Given the description of an element on the screen output the (x, y) to click on. 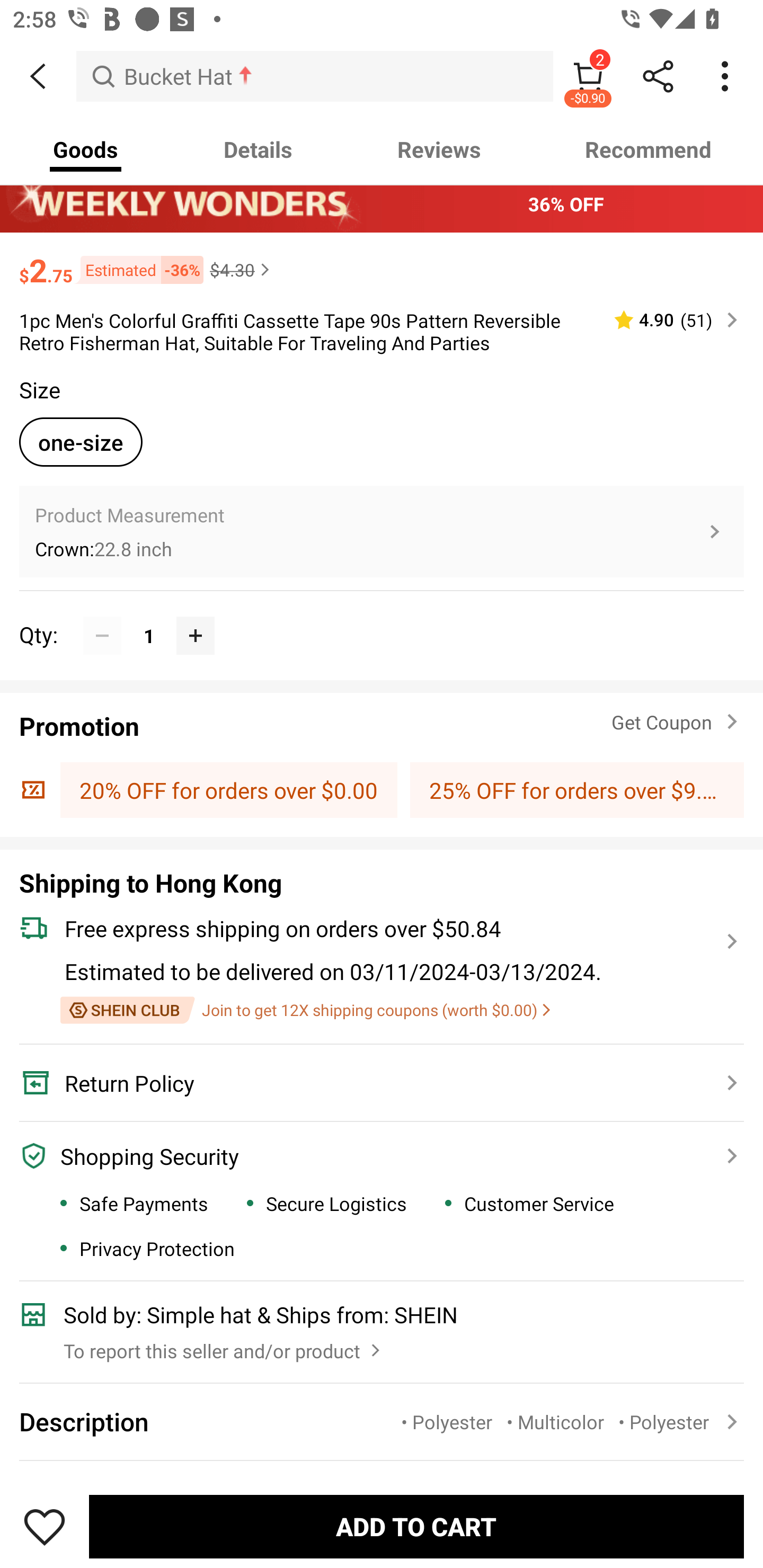
BACK (38, 75)
2 -$0.90 (588, 75)
Bucket Hat (314, 75)
Goods (85, 149)
Details (257, 149)
Reviews (439, 149)
Recommend (648, 149)
36% OFF (381, 203)
$2.75 Estimated -36% $4.30 (381, 261)
Estimated -36% (137, 269)
$4.30 (241, 269)
4.90 (51) (667, 319)
Size (39, 389)
one-size one-sizeselected option (80, 442)
Product Measurement Crown:22.8 inch (381, 531)
Qty: 1 (381, 616)
Join to get 12X shipping coupons (worth $0.00) (305, 1009)
Return Policy (370, 1082)
To report this seller and/or product   (224, 1346)
ADD TO CART (416, 1526)
Save (44, 1526)
